Given the description of an element on the screen output the (x, y) to click on. 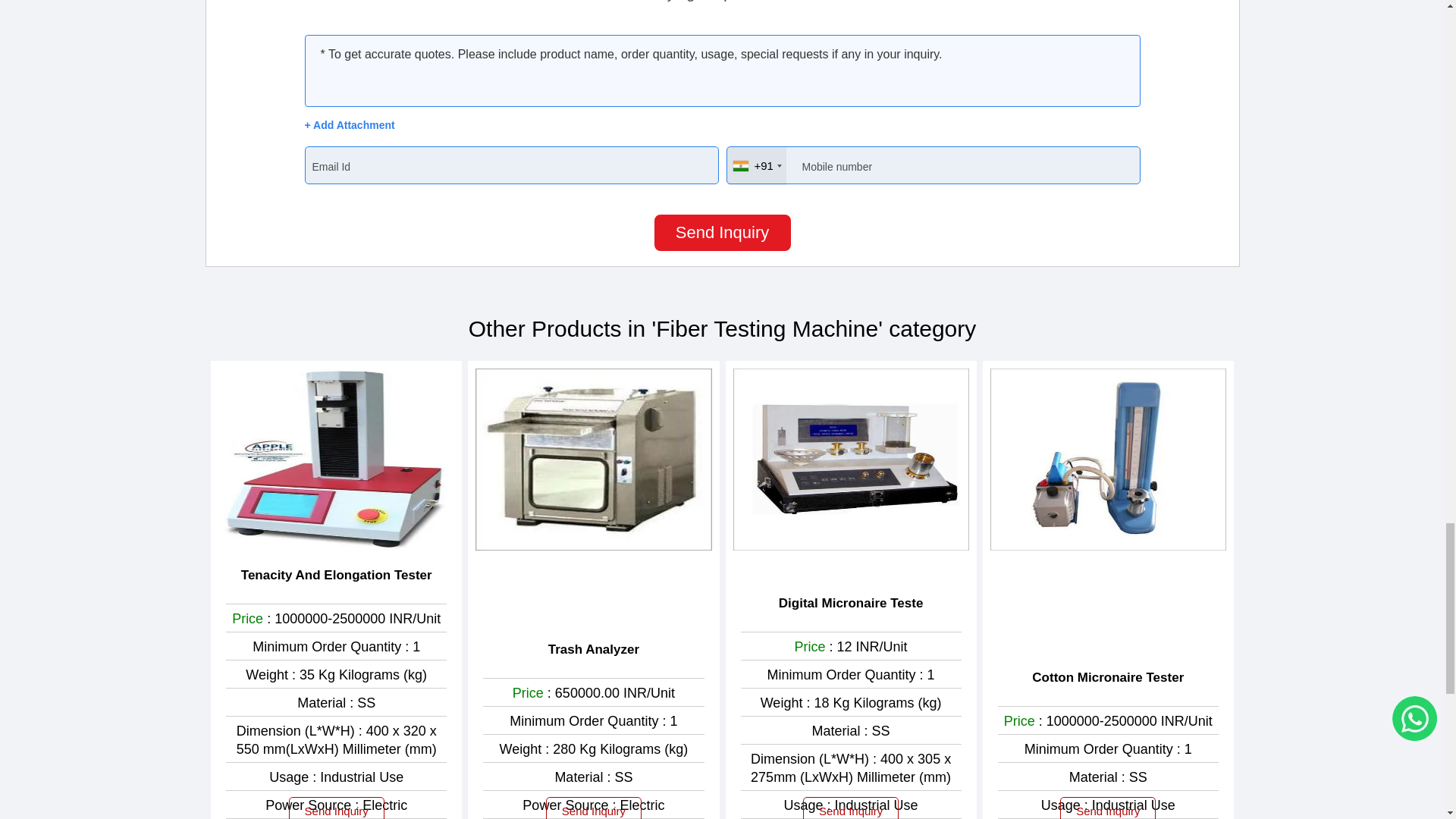
Send Inquiry (721, 232)
Tenacity And Elongation Tester (336, 575)
Send Inquiry (336, 807)
Trash Analyzer (593, 649)
